Given the description of an element on the screen output the (x, y) to click on. 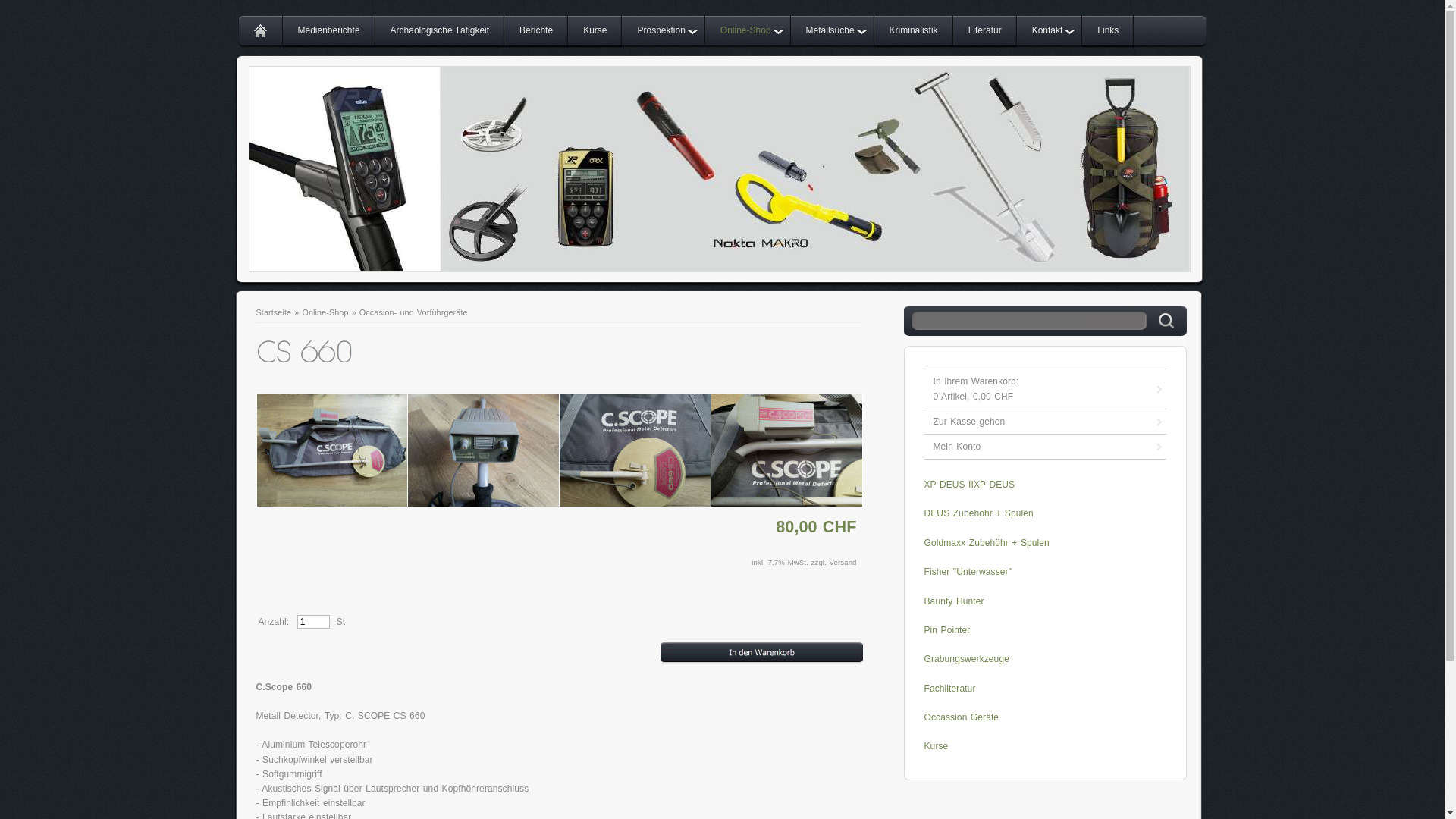
Zur Kasse gehen Element type: text (1044, 421)
XP DEUS IIXP DEUS Element type: text (968, 484)
  Element type: text (259, 31)
Metallsuche Element type: text (832, 31)
Pin Pointer Element type: text (946, 629)
Online-Shop Element type: text (747, 31)
Grabungswerkzeuge Element type: text (965, 658)
Kurse Element type: text (594, 31)
Startseite Element type: text (273, 311)
Kriminalistik Element type: text (913, 31)
Berichte Element type: text (535, 31)
Mein Konto Element type: text (1044, 446)
Baunty Hunter Element type: text (953, 601)
Kontakt Element type: text (1049, 31)
Prospektion Element type: text (662, 31)
Fisher "Unterwasser" Element type: text (967, 571)
Online-Shop Element type: text (324, 311)
Links Element type: text (1107, 31)
Medienberichte Element type: text (328, 31)
Kurse Element type: text (935, 745)
In Ihrem Warenkorb:
0 Artikel, 0,00 CHF Element type: text (1044, 389)
Fachliteratur Element type: text (949, 688)
Literatur Element type: text (984, 31)
